Given the description of an element on the screen output the (x, y) to click on. 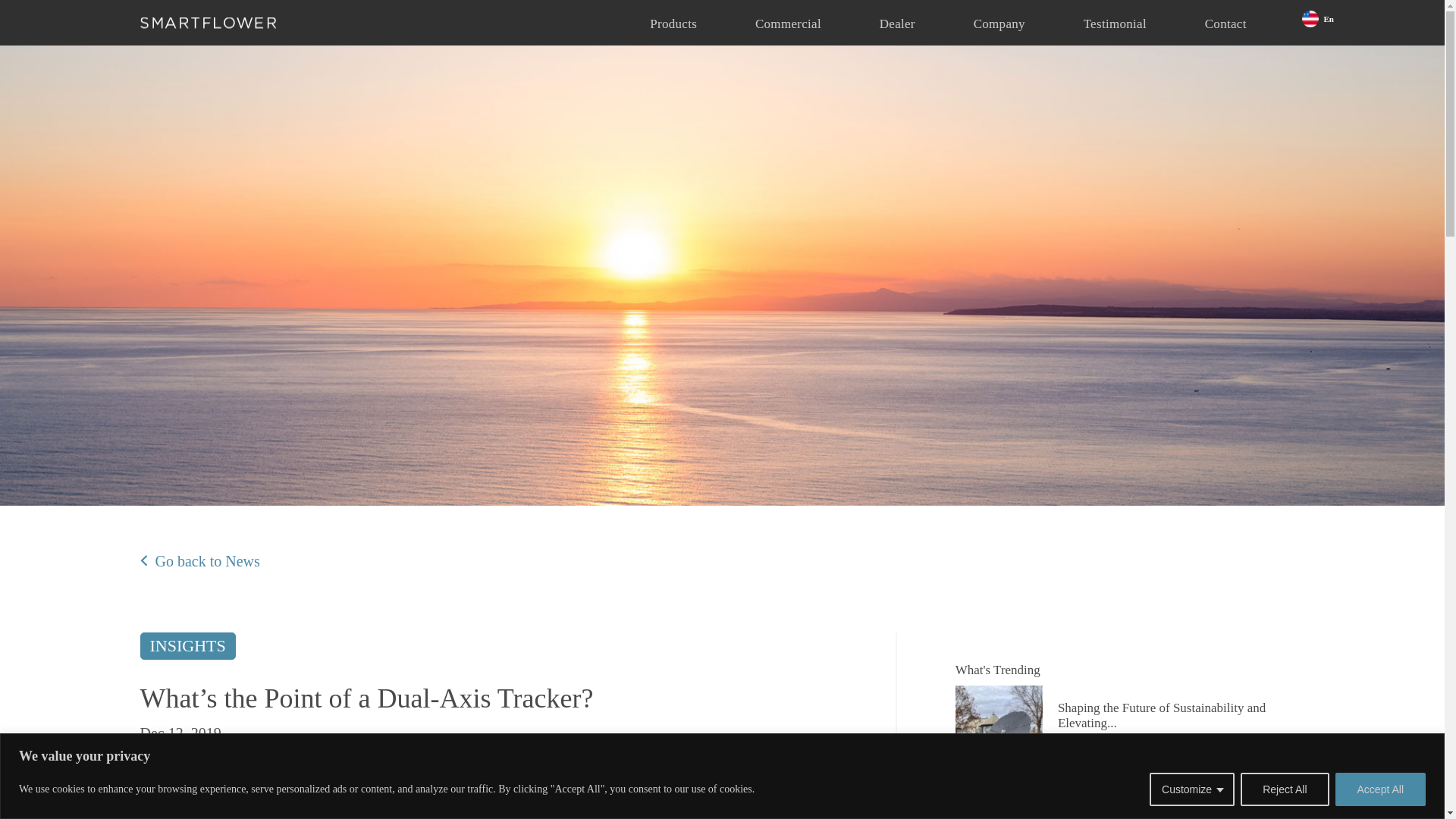
Shaping the Future of Sustainability and Elevating... (1181, 726)
Solving Conventional Problems with Unconventional ... (1181, 811)
Accept All (1380, 788)
En (1317, 6)
going solar already saves you money (418, 812)
Reject All (1283, 788)
Home (207, 22)
Customize (1192, 788)
Contact (1224, 15)
Testimonial (1114, 14)
Company (998, 13)
Go back to News (199, 560)
